Given the description of an element on the screen output the (x, y) to click on. 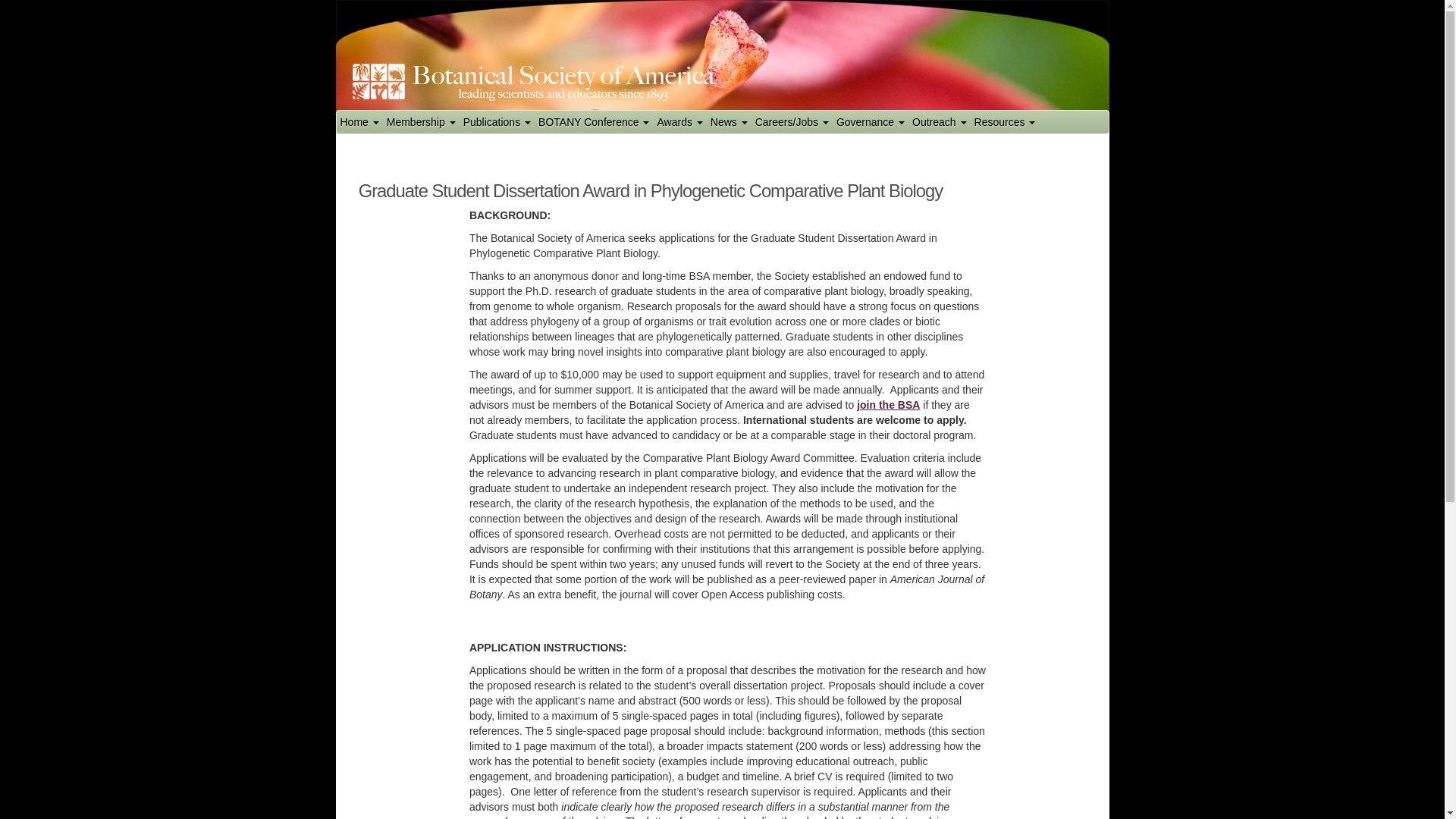
Home (359, 121)
BSA Membership Information (421, 121)
Membership (421, 121)
Publications (497, 121)
Home (359, 121)
